Given the description of an element on the screen output the (x, y) to click on. 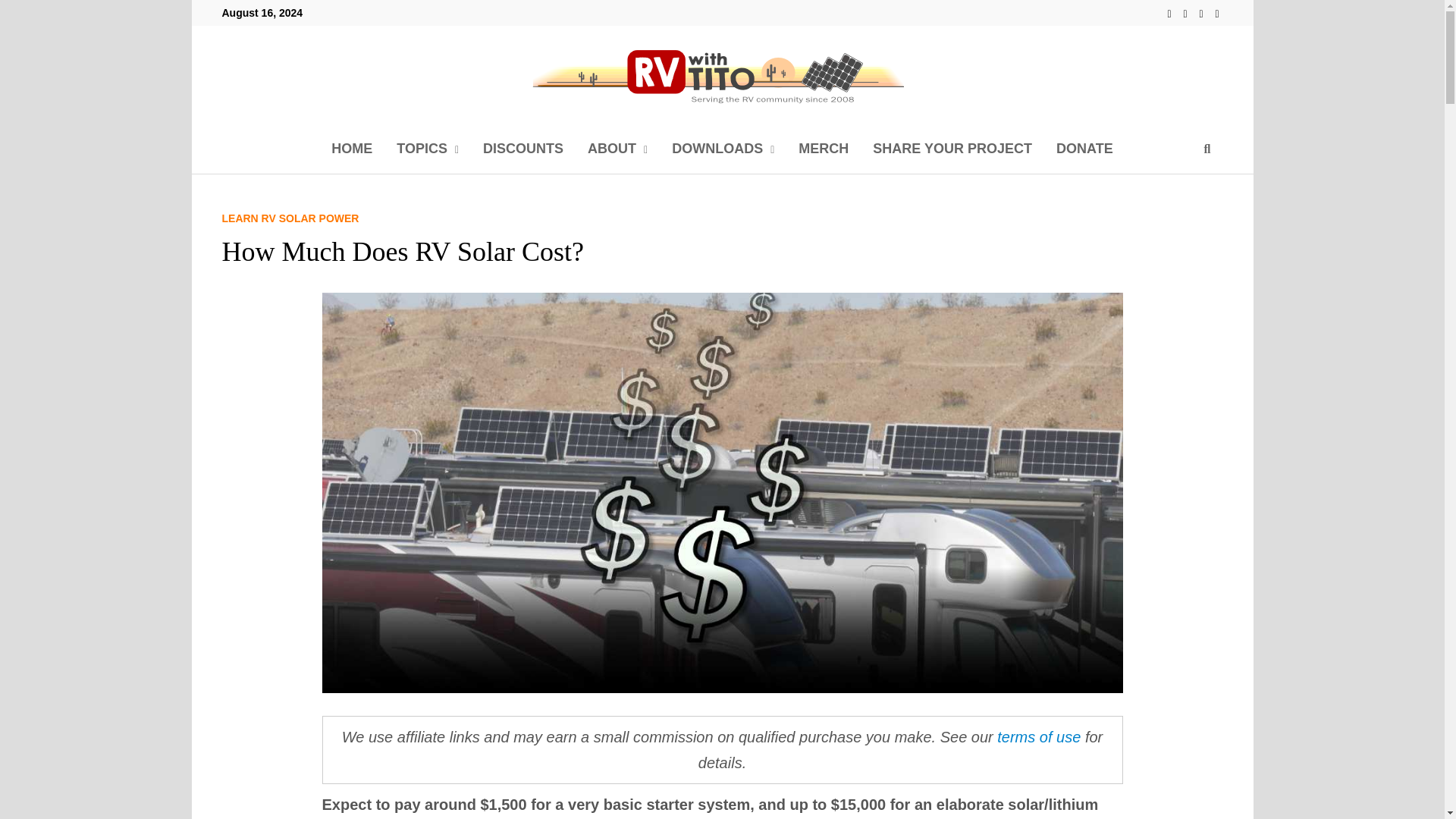
DONATE (1084, 148)
Twitter (1203, 11)
DISCOUNTS (522, 148)
ABOUT (617, 148)
TOPICS (427, 148)
Facebook (1171, 11)
Youtube (1187, 11)
SHARE YOUR PROJECT (951, 148)
HOME (351, 148)
